Given the description of an element on the screen output the (x, y) to click on. 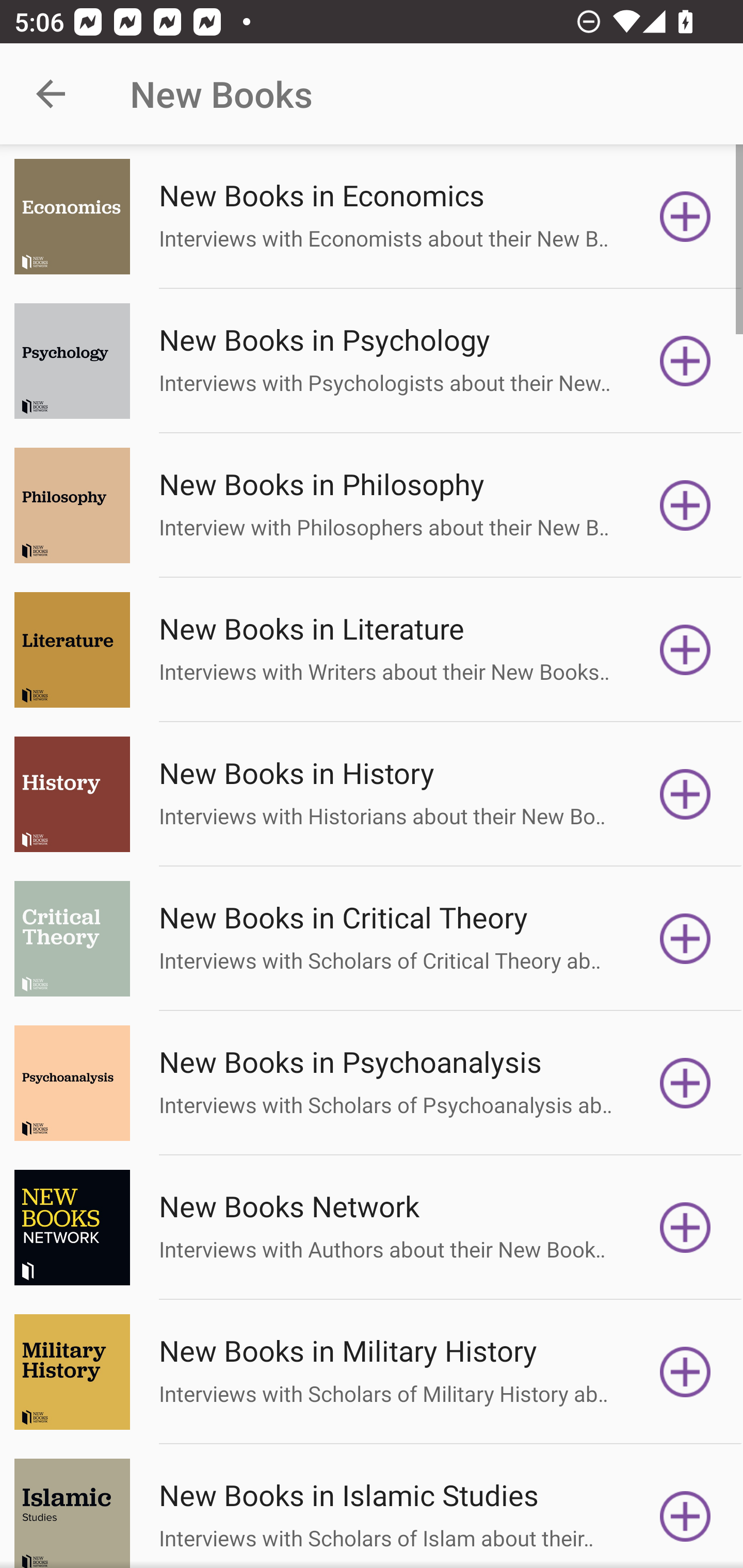
Navigate up (50, 93)
Subscribe (685, 216)
Subscribe (685, 360)
Subscribe (685, 505)
Subscribe (685, 649)
Subscribe (685, 793)
Subscribe (685, 939)
Subscribe (685, 1083)
Subscribe (685, 1227)
Subscribe (685, 1371)
Subscribe (685, 1513)
